Given the description of an element on the screen output the (x, y) to click on. 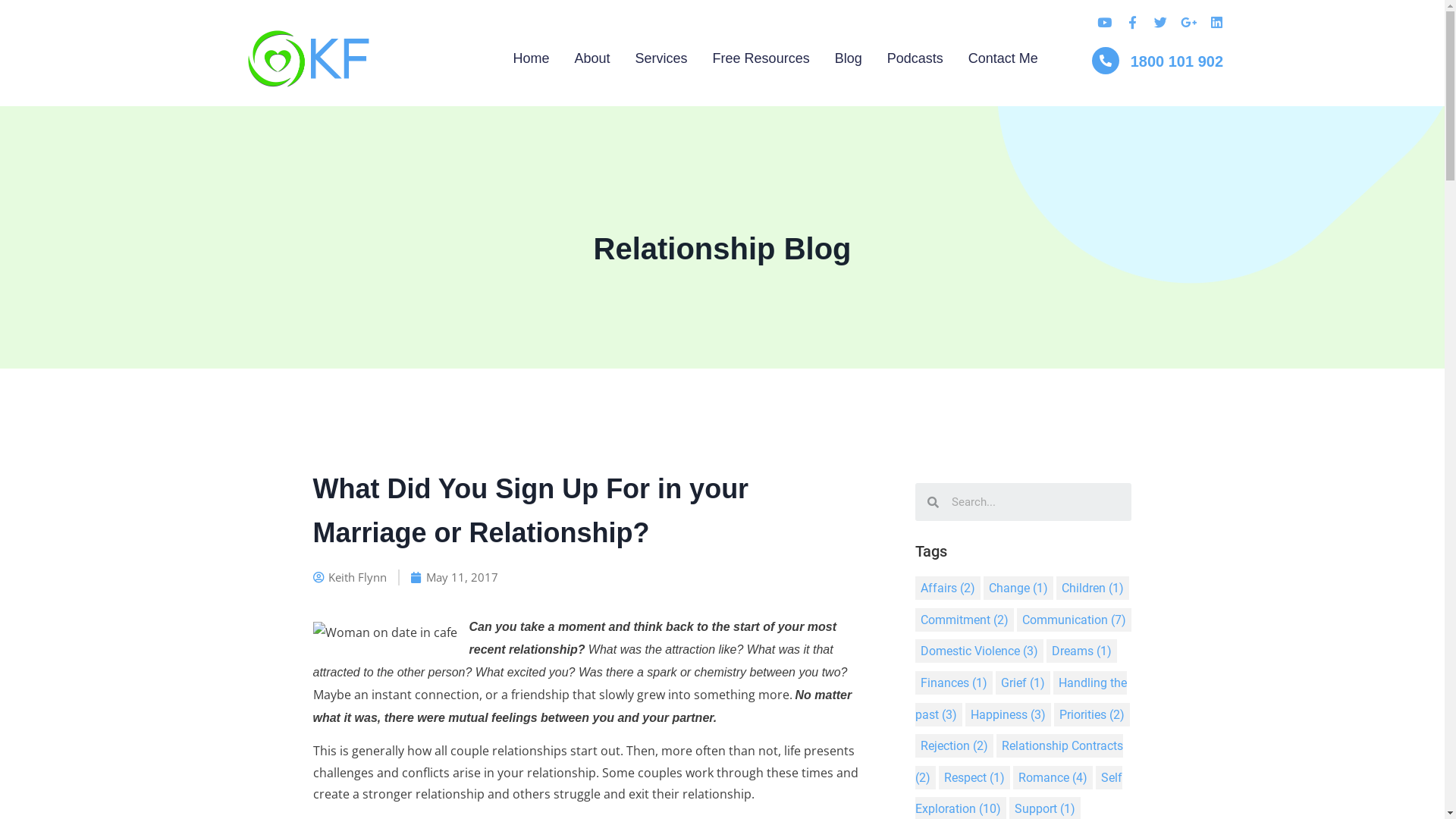
Services Element type: text (648, 58)
Affairs (2) Element type: text (946, 587)
Finances (1) Element type: text (952, 682)
Free Resources Element type: text (748, 58)
Keith Flynn Element type: text (348, 577)
Dreams (1) Element type: text (1081, 650)
May 11, 2017 Element type: text (454, 577)
Children (1) Element type: text (1091, 587)
Relationship Contracts (2) Element type: text (1018, 761)
Contact Me Element type: text (990, 58)
Handling the past (3) Element type: text (1020, 698)
Romance (4) Element type: text (1052, 777)
Domestic Violence (3) Element type: text (978, 650)
Search Element type: hover (1034, 501)
Happiness (3) Element type: text (1007, 714)
1800 101 902 Element type: text (1176, 61)
About Element type: text (579, 58)
Blog Element type: text (835, 58)
Respect (1) Element type: text (974, 777)
Rejection (2) Element type: text (953, 745)
Priorities (2) Element type: text (1091, 714)
Podcasts Element type: text (902, 58)
Communication (7) Element type: text (1073, 619)
Change (1) Element type: text (1017, 587)
Commitment (2) Element type: text (963, 619)
Grief (1) Element type: text (1021, 682)
Home Element type: text (518, 58)
